Given the description of an element on the screen output the (x, y) to click on. 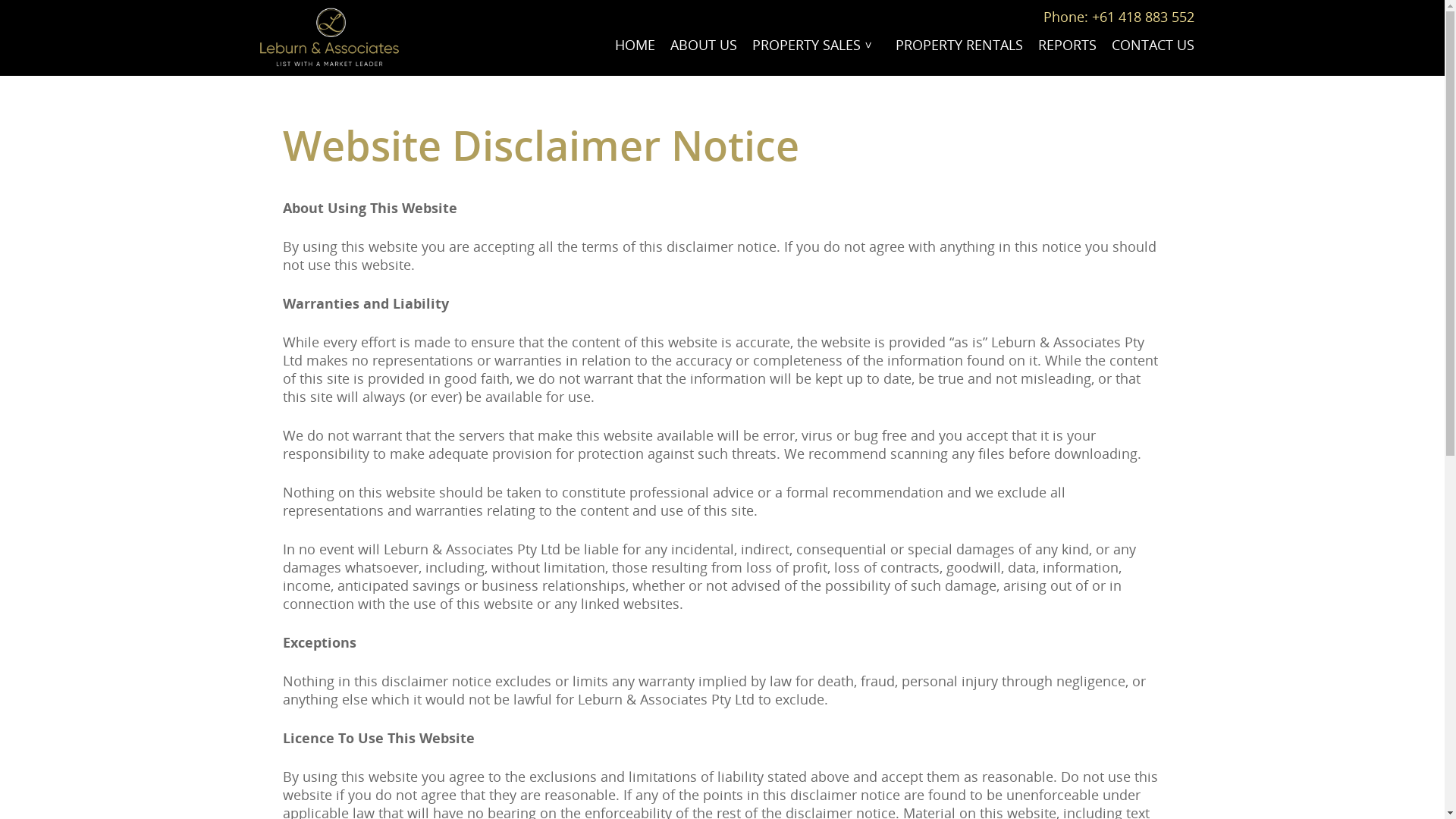
REPORTS Element type: text (1067, 44)
HOME Element type: text (635, 44)
ABOUT US Element type: text (703, 44)
PROPERTY SALES Element type: text (816, 44)
Phone: +61 418 883 552 Element type: text (1118, 16)
CONTACT US Element type: text (1152, 44)
PROPERTY RENTALS Element type: text (958, 44)
